Given the description of an element on the screen output the (x, y) to click on. 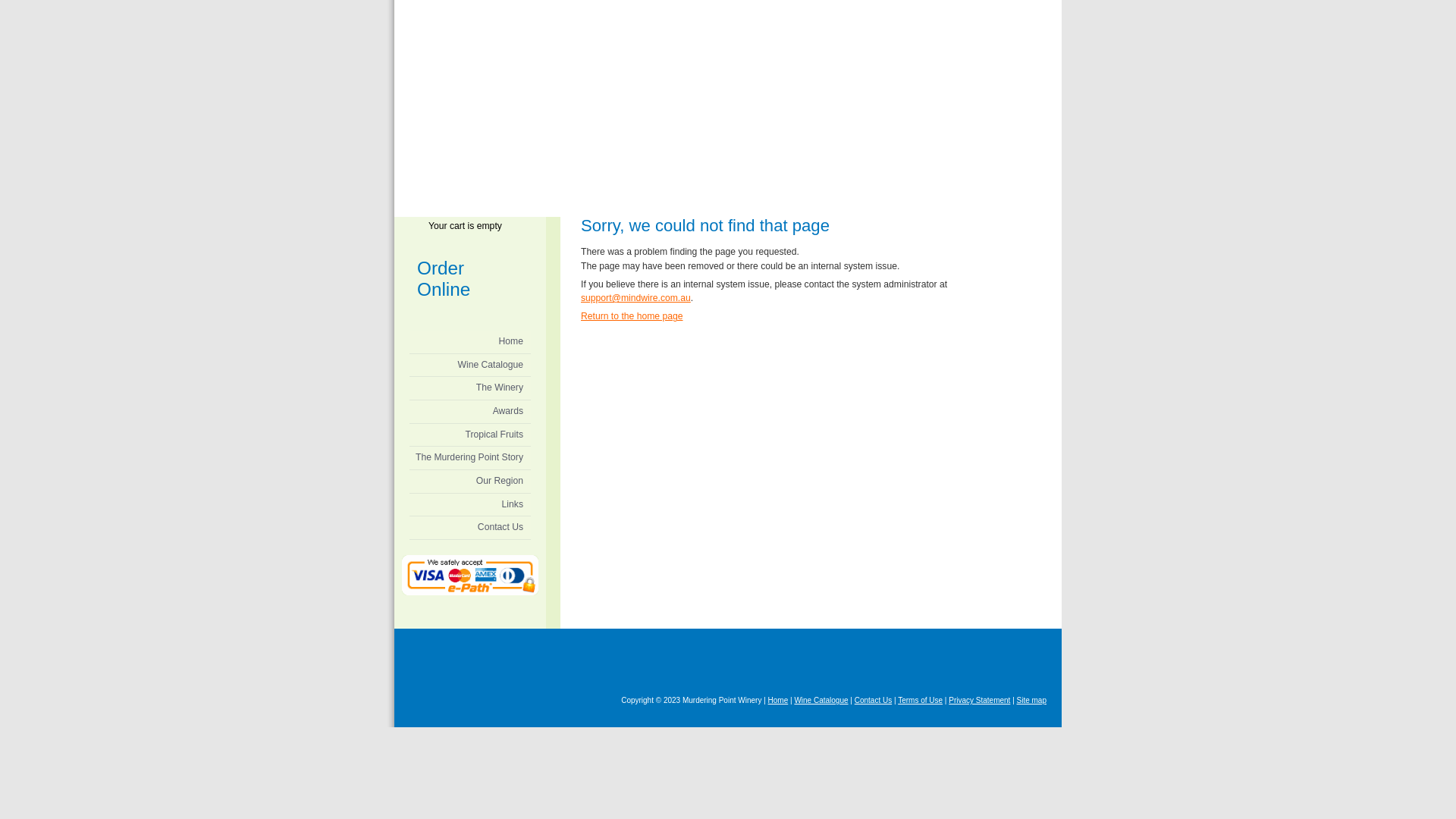
Wine Catalogue Element type: text (469, 365)
The Murdering Point Story Element type: text (469, 457)
Accepting credit card payments online by e-Path Element type: hover (469, 584)
Order
Online Element type: text (477, 275)
Awards Element type: text (469, 411)
Terms of Use Element type: text (919, 700)
Contact Us Element type: text (872, 700)
Site map Element type: text (1031, 700)
Links Element type: text (469, 504)
Home Element type: text (778, 700)
Home Element type: text (469, 341)
support@mindwire.com.au Element type: text (635, 297)
The Winery Element type: text (469, 387)
Our Region Element type: text (469, 481)
Privacy Statement Element type: text (979, 700)
Return to the home page Element type: text (631, 315)
Wine Catalogue Element type: text (820, 700)
Tropical Fruits Element type: text (469, 434)
Contact Us Element type: text (469, 527)
